Given the description of an element on the screen output the (x, y) to click on. 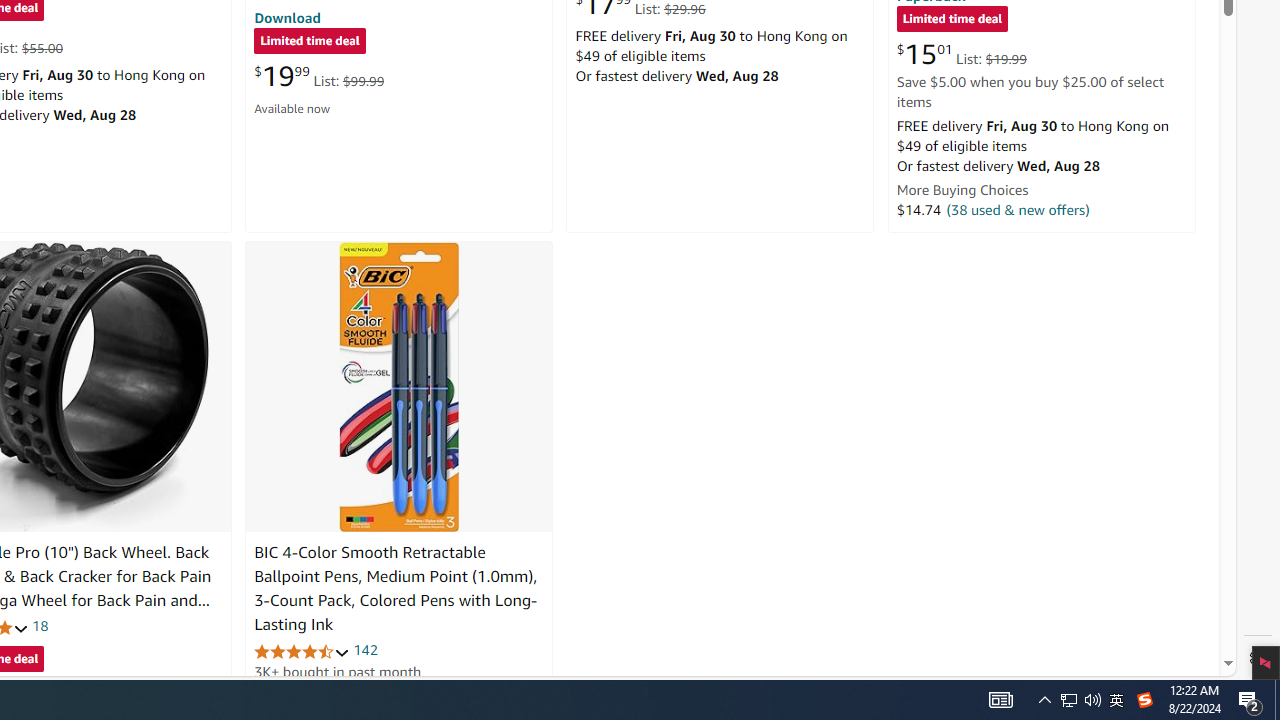
Settings (1258, 658)
Download (287, 17)
(38 used & new offers) (1017, 209)
18 (40, 625)
$15.01 List: $19.99 (961, 54)
4.6 out of 5 stars (301, 650)
Limited time deal (952, 20)
$19.99 List: $99.99 (319, 76)
142 (365, 650)
